Given the description of an element on the screen output the (x, y) to click on. 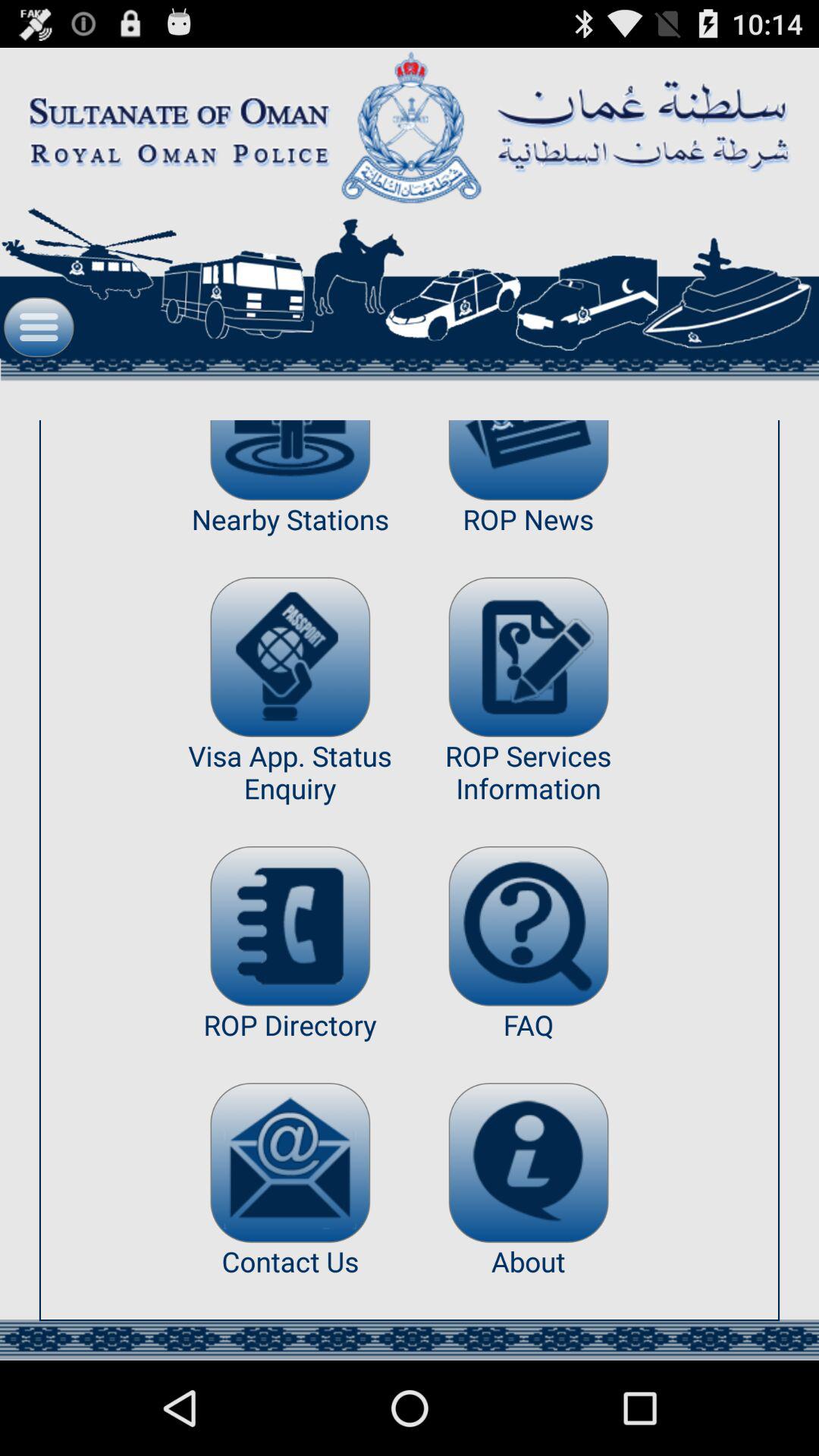
icon to learn about application (528, 1162)
